Given the description of an element on the screen output the (x, y) to click on. 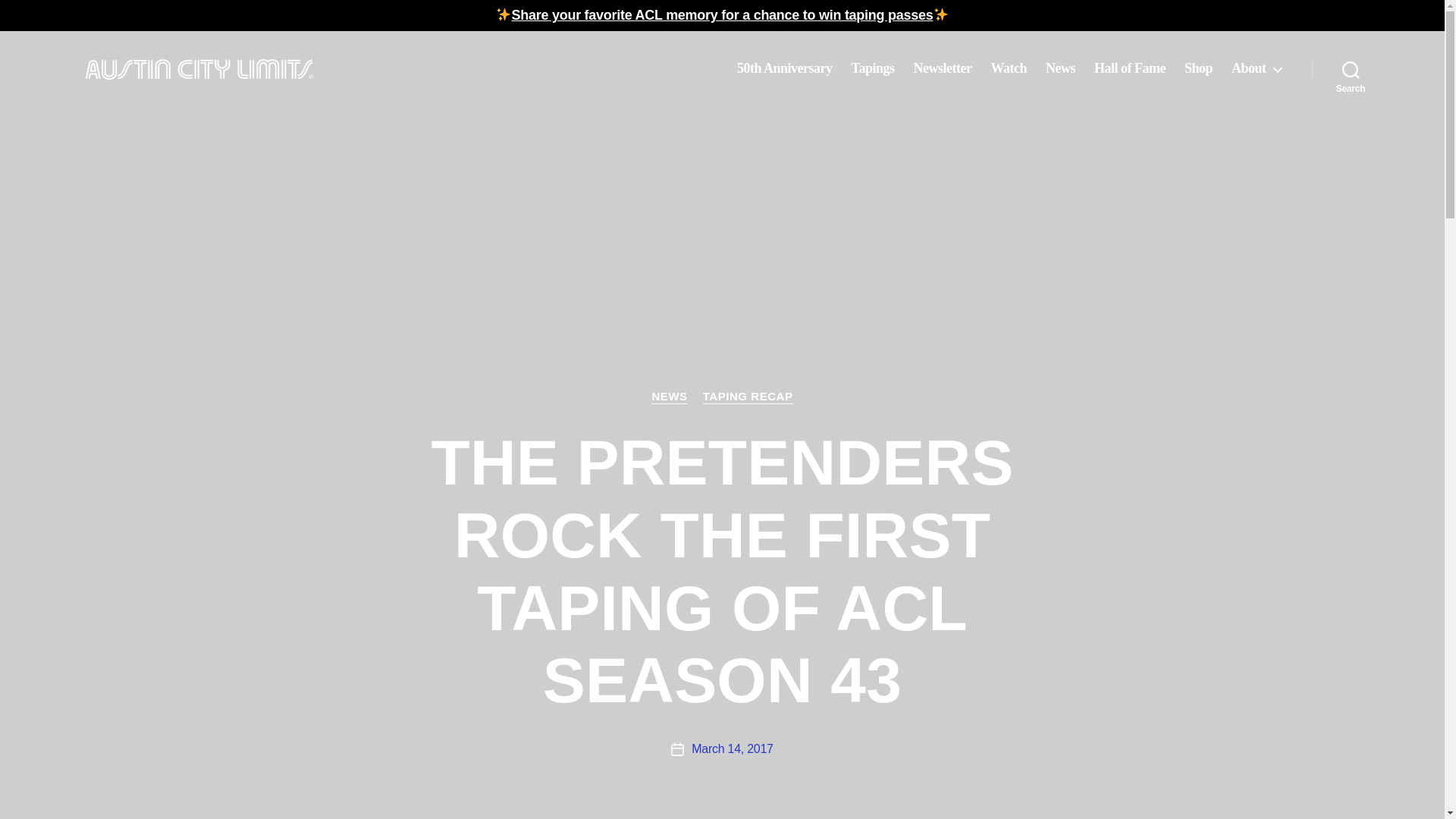
About (1256, 68)
NEWS (668, 396)
Hall of Fame (1130, 68)
TAPING RECAP (748, 396)
Shop (1198, 68)
News (1060, 68)
Search (1350, 68)
Newsletter (941, 68)
50th Anniversary (784, 68)
Watch (1008, 68)
March 14, 2017 (732, 748)
Tapings (873, 68)
